Given the description of an element on the screen output the (x, y) to click on. 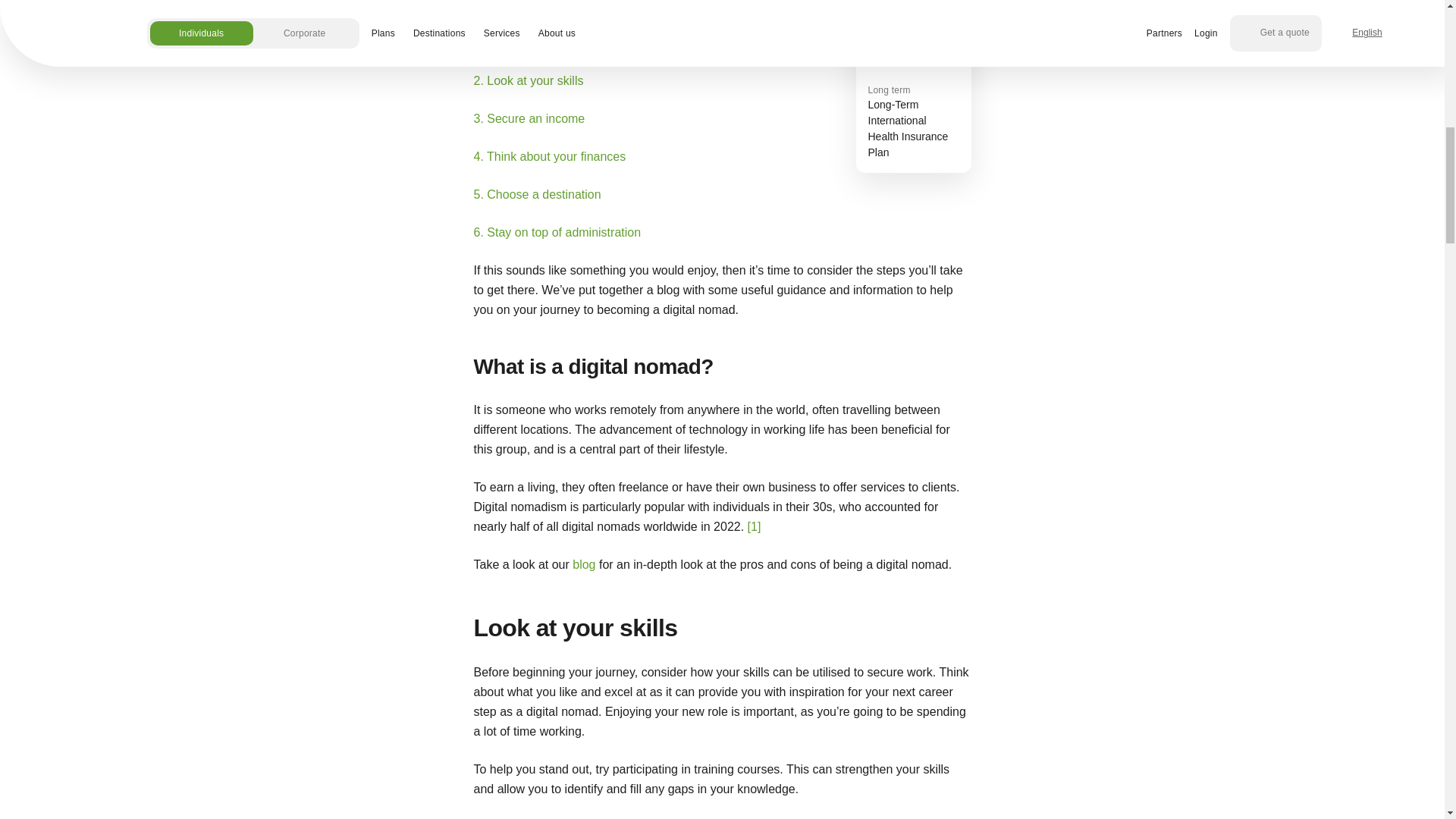
2. Look at your skills (528, 80)
1. What is a digital nomad? (913, 86)
